Given the description of an element on the screen output the (x, y) to click on. 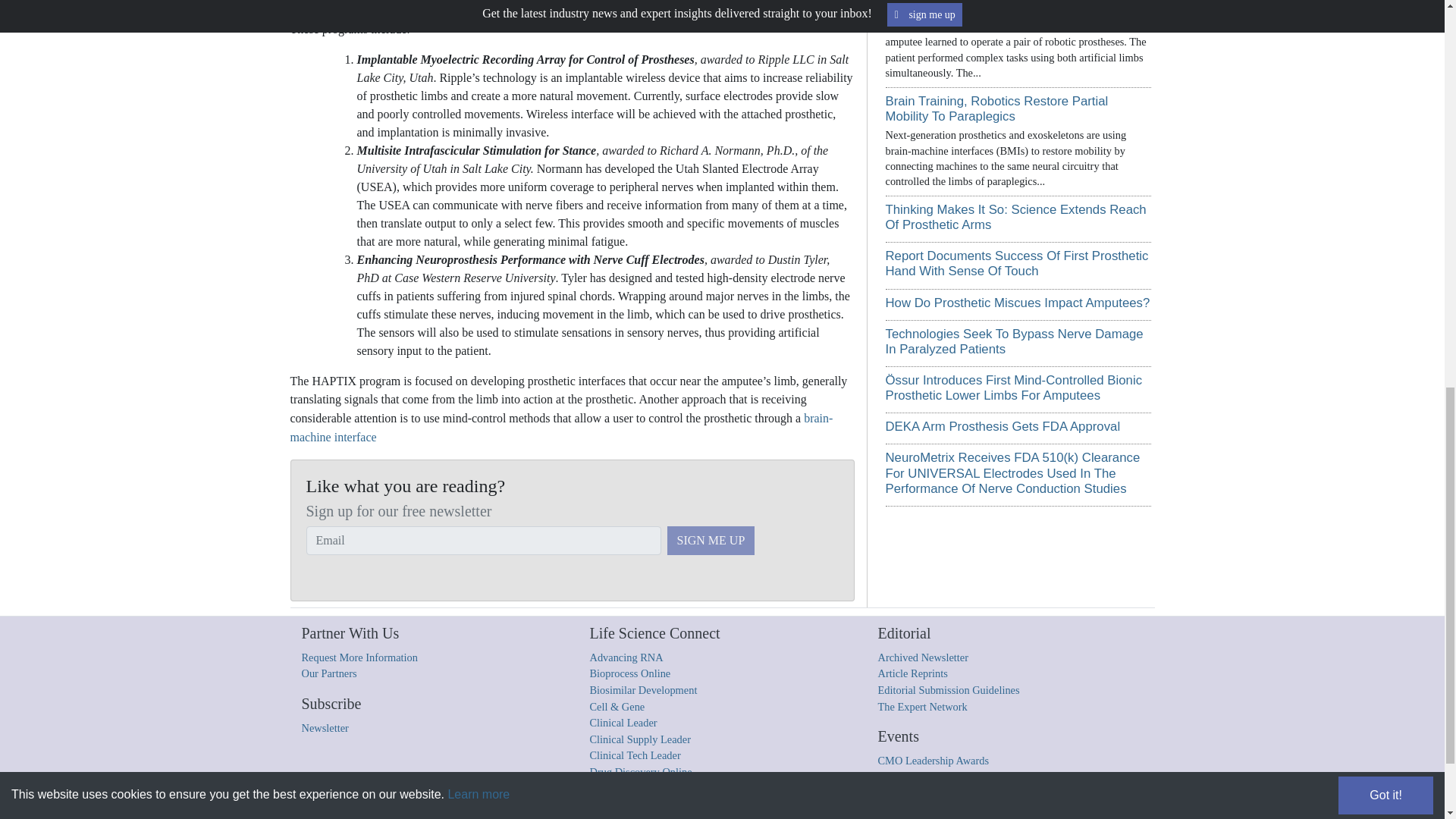
How Do Prosthetic Miscues Impact Amputees? (1017, 302)
SIGN ME UP (710, 540)
DEKA Arm Prosthesis Gets FDA Approval (1003, 426)
brain-machine interface (560, 427)
